Given the description of an element on the screen output the (x, y) to click on. 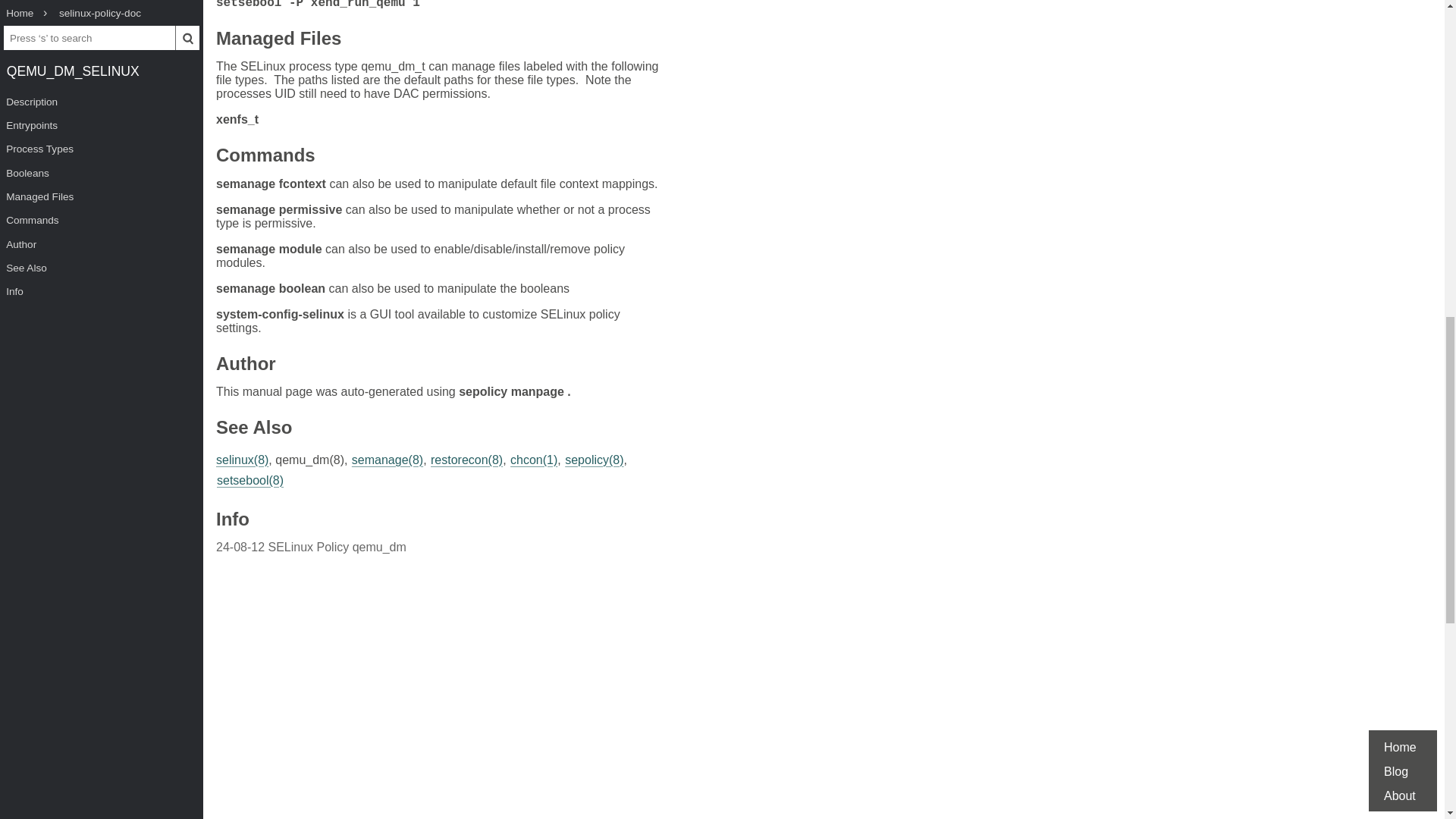
Info (231, 521)
Commands (265, 156)
Managed Files (277, 40)
See Also (253, 429)
Author (245, 365)
